Given the description of an element on the screen output the (x, y) to click on. 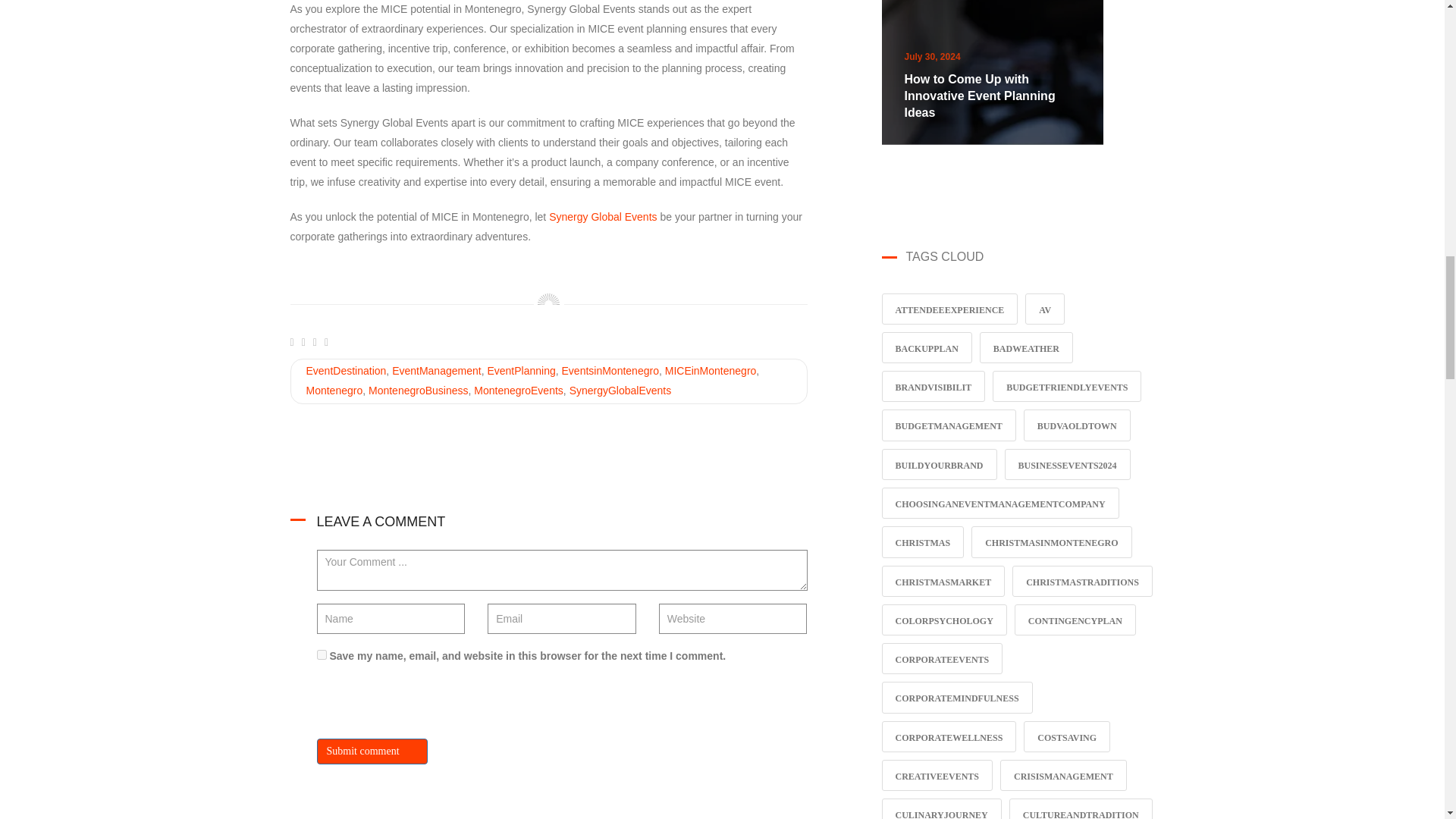
EventManagement (436, 370)
Montenegro (333, 390)
EventPlanning (520, 370)
MICEinMontenegro (711, 370)
EventsinMontenegro (610, 370)
MontenegroBusiness (418, 390)
EventDestination (346, 370)
yes (321, 655)
Synergy Global Events (602, 216)
